Given the description of an element on the screen output the (x, y) to click on. 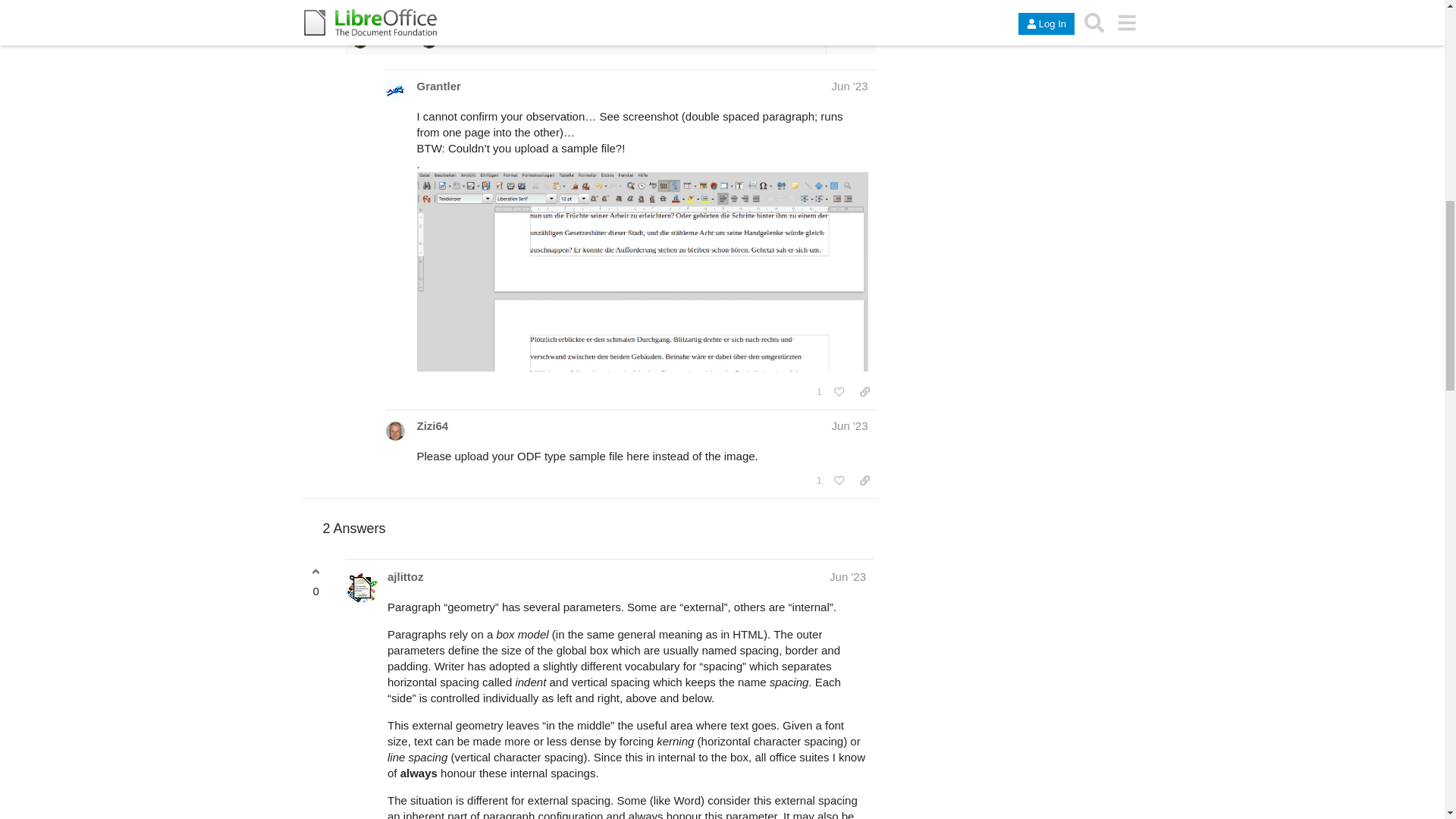
Grantler (438, 85)
last answer (446, 23)
Scar (665, 32)
Jun 25, 2023 3:25 pm (387, 41)
Scar (359, 40)
Jul 1, 2023 5:07 pm (455, 41)
Scar (429, 40)
Jun '23 (849, 85)
1 (819, 392)
